Given the description of an element on the screen output the (x, y) to click on. 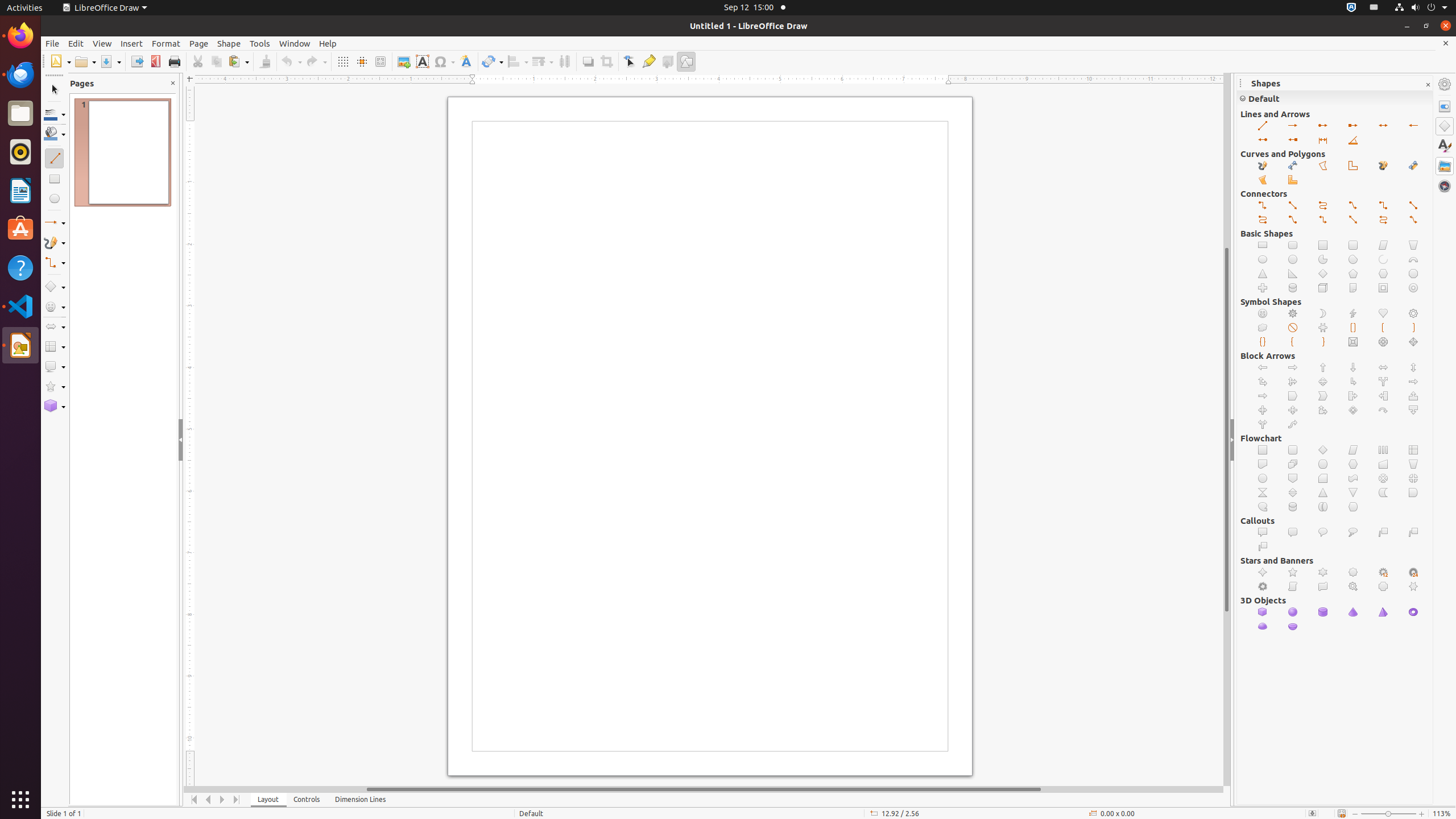
Circle Segment Element type: list-item (1353, 259)
Left Arrow Element type: list-item (1262, 367)
Horizontal scroll bar Element type: scroll-bar (703, 789)
Flowchart: Delay Element type: list-item (1413, 492)
Arrange Element type: push-button (542, 61)
